Given the description of an element on the screen output the (x, y) to click on. 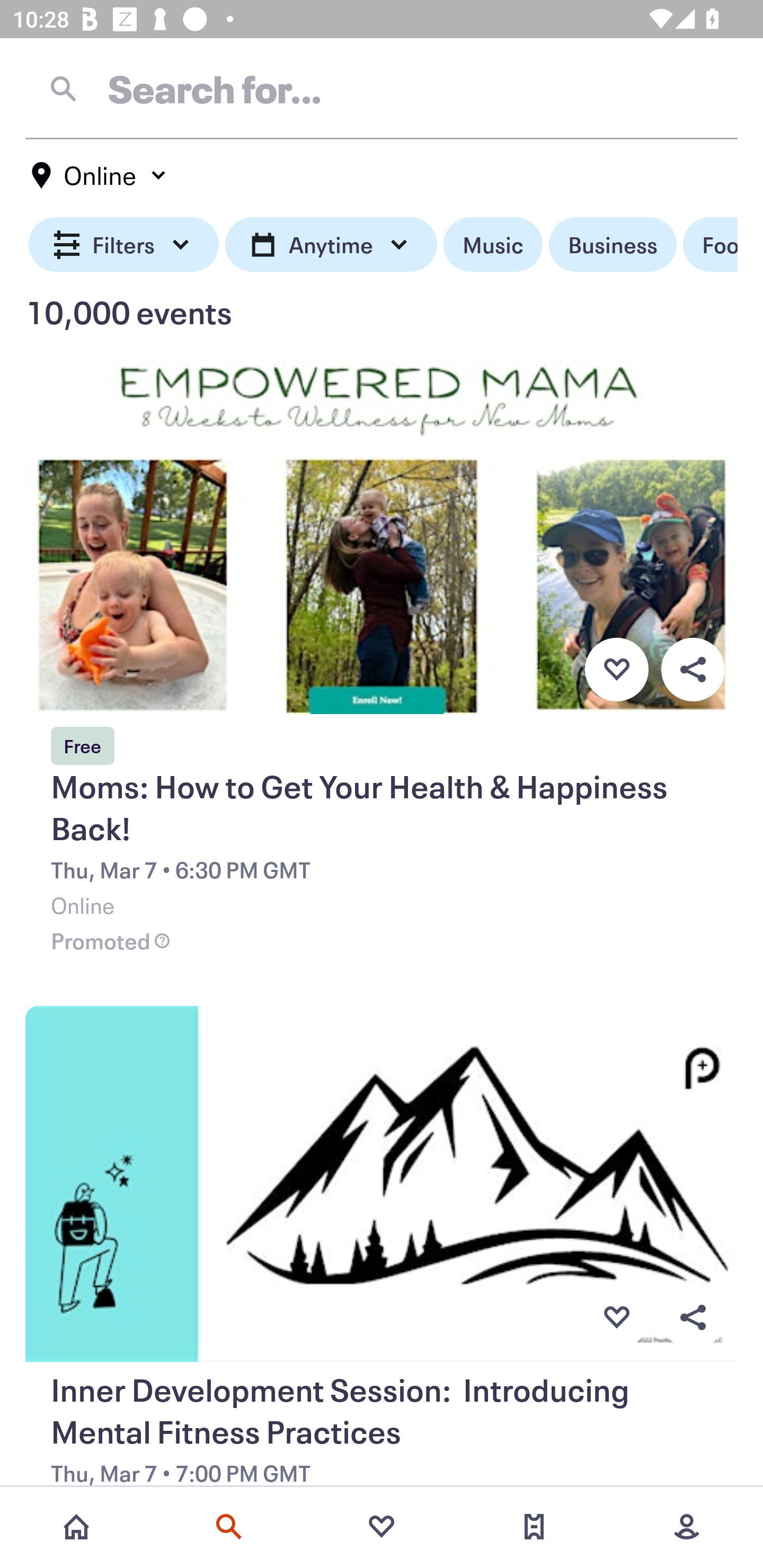
Search for… (381, 88)
Online (99, 175)
Filters (123, 244)
Anytime (331, 244)
Music (492, 244)
Business (612, 244)
Favorite button (616, 669)
Overflow menu button (692, 669)
Favorite button (616, 1317)
Overflow menu button (692, 1317)
Home (76, 1526)
Search events (228, 1526)
Favorites (381, 1526)
Tickets (533, 1526)
More (686, 1526)
